Given the description of an element on the screen output the (x, y) to click on. 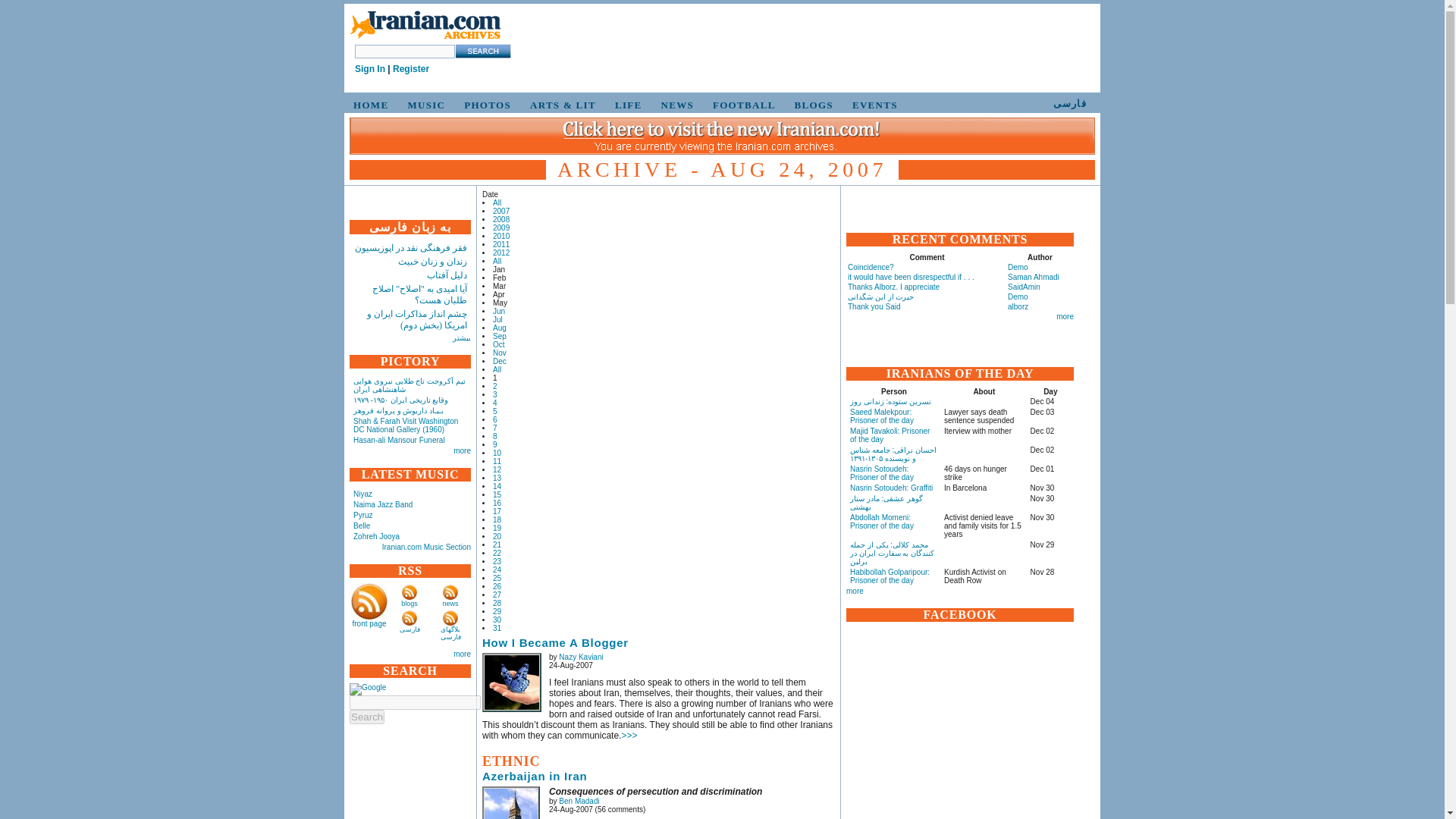
front page (368, 623)
Home (424, 40)
PHOTOS (484, 105)
Zohreh Jooya (375, 536)
Niyaz (362, 493)
77 posts (497, 319)
more (461, 450)
Iranian.com Music Section (425, 546)
Hasan-ali Mansour Funeral (399, 439)
EVENTS (872, 105)
